Given the description of an element on the screen output the (x, y) to click on. 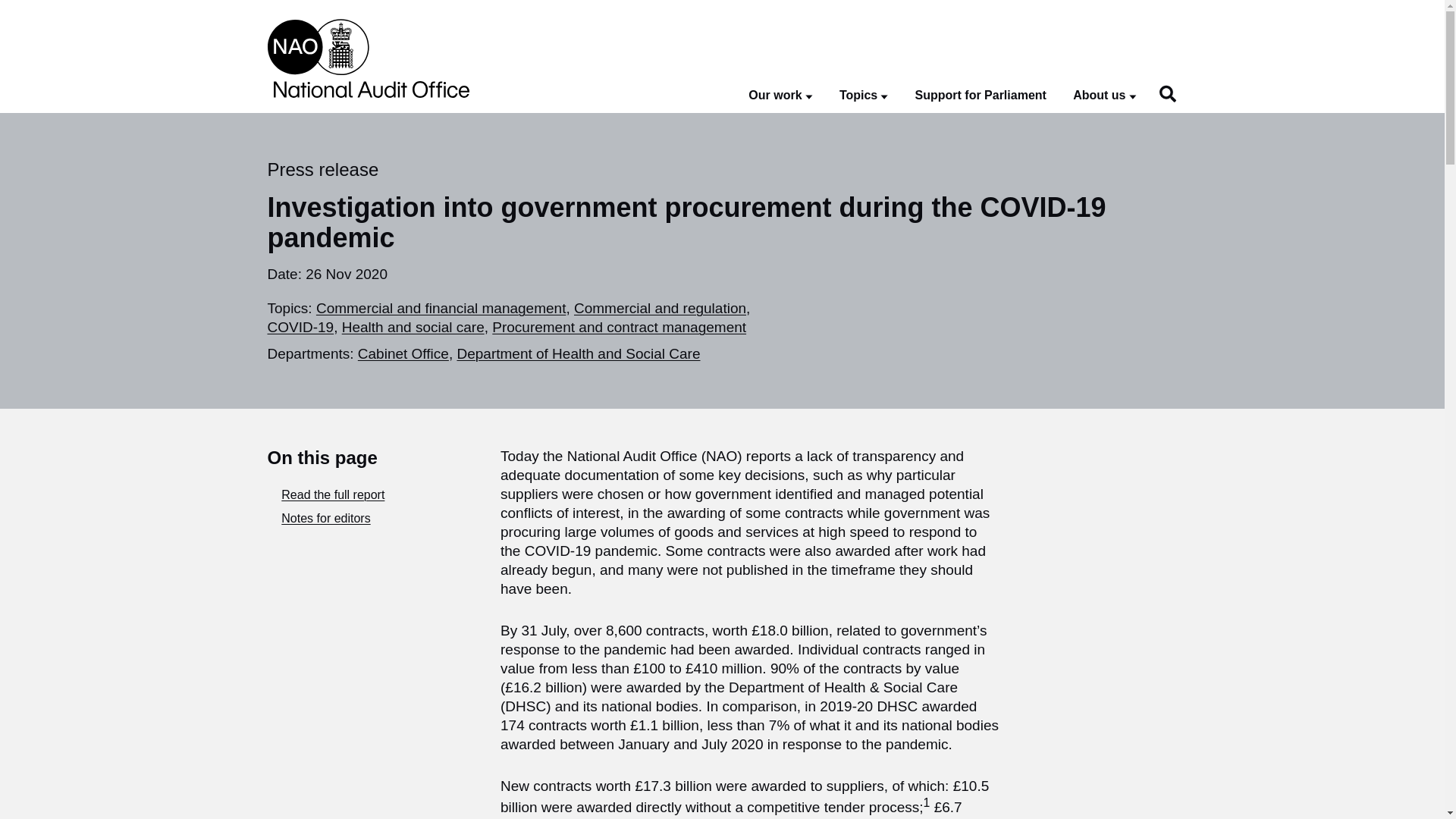
Skip to main content (11, 7)
About us (1104, 95)
Support for Parliament (980, 95)
Our work (780, 95)
Topics (864, 95)
